Given the description of an element on the screen output the (x, y) to click on. 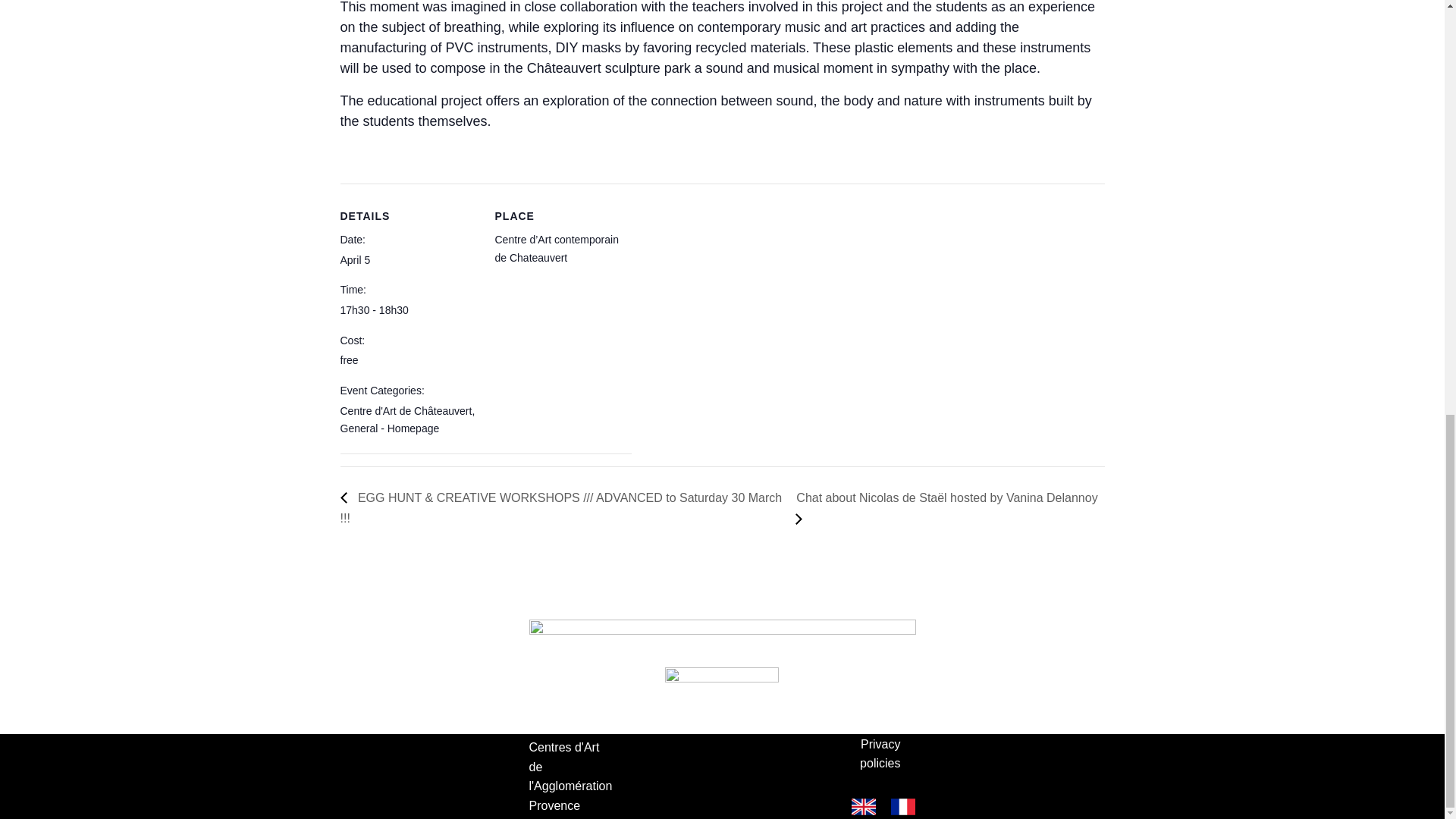
Privacy policies (867, 753)
General - Homepage (389, 428)
2024-04-05 (354, 259)
2024-04-05 (407, 311)
